Given the description of an element on the screen output the (x, y) to click on. 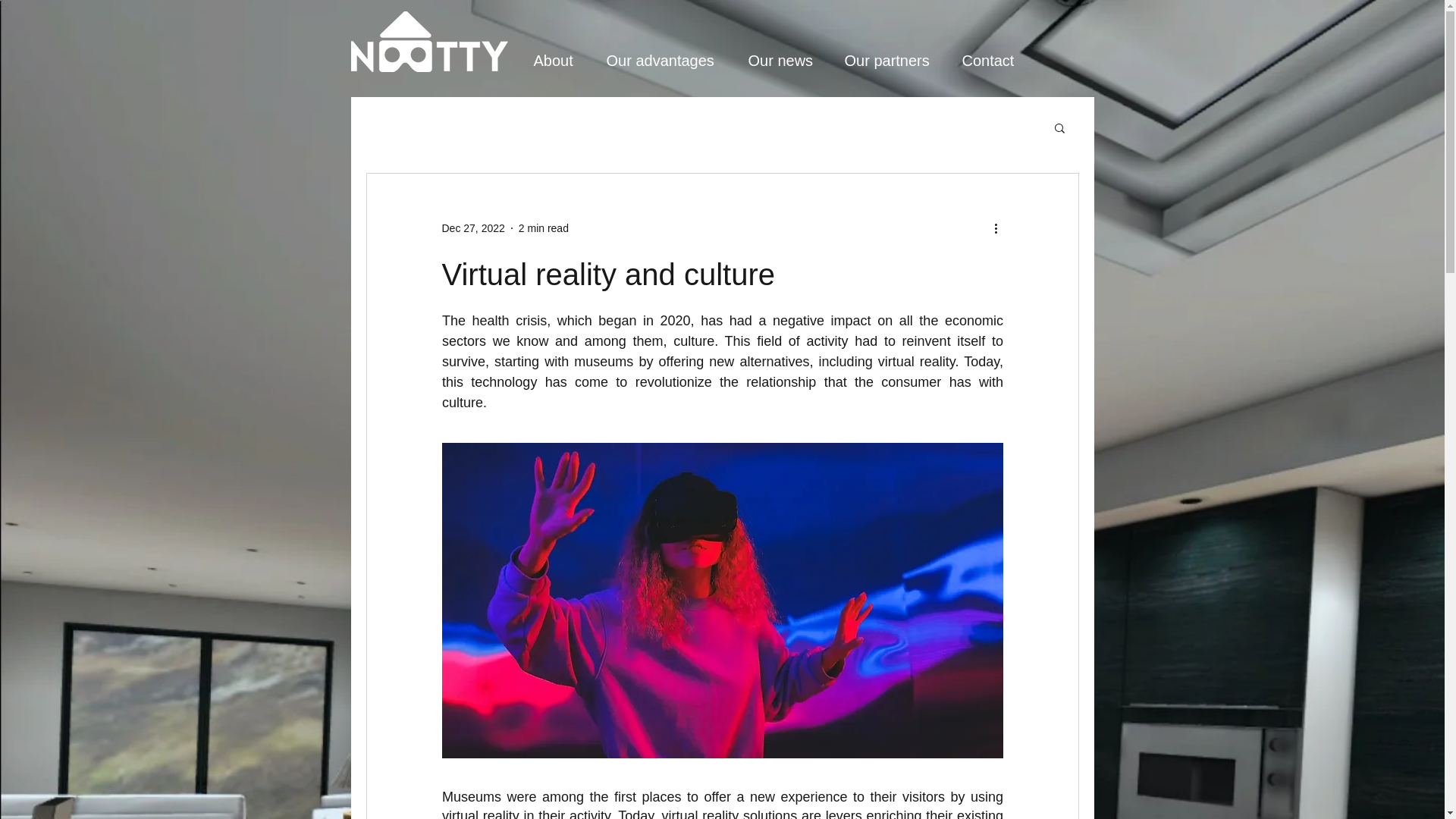
Our news (787, 60)
Our advantages (669, 60)
About (561, 60)
Dec 27, 2022 (472, 227)
Our partners (896, 60)
2 min read (543, 227)
Contact (996, 60)
